Given the description of an element on the screen output the (x, y) to click on. 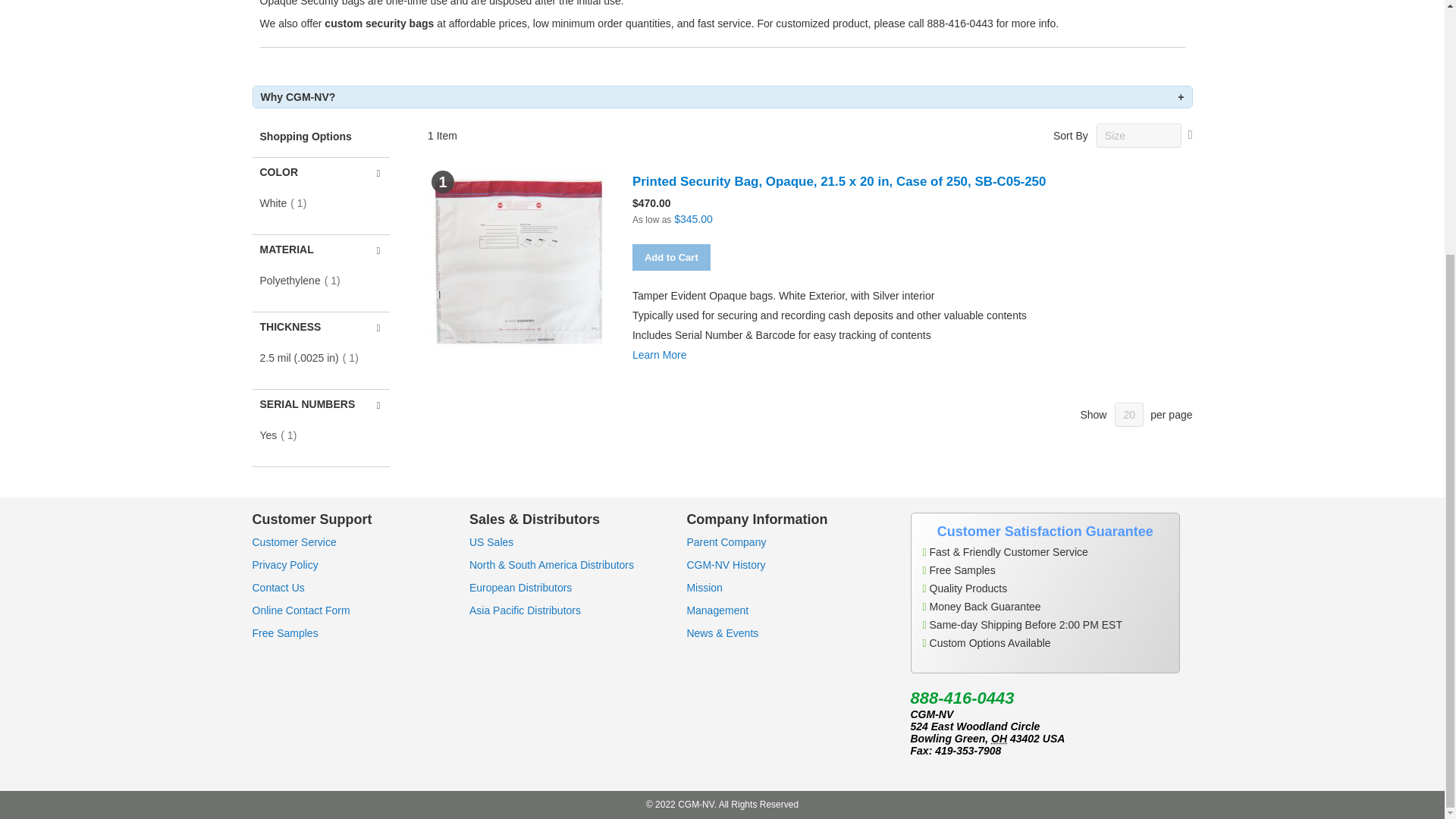
Add to Cart (670, 257)
Add to Cart (670, 257)
Ohio (999, 738)
